Given the description of an element on the screen output the (x, y) to click on. 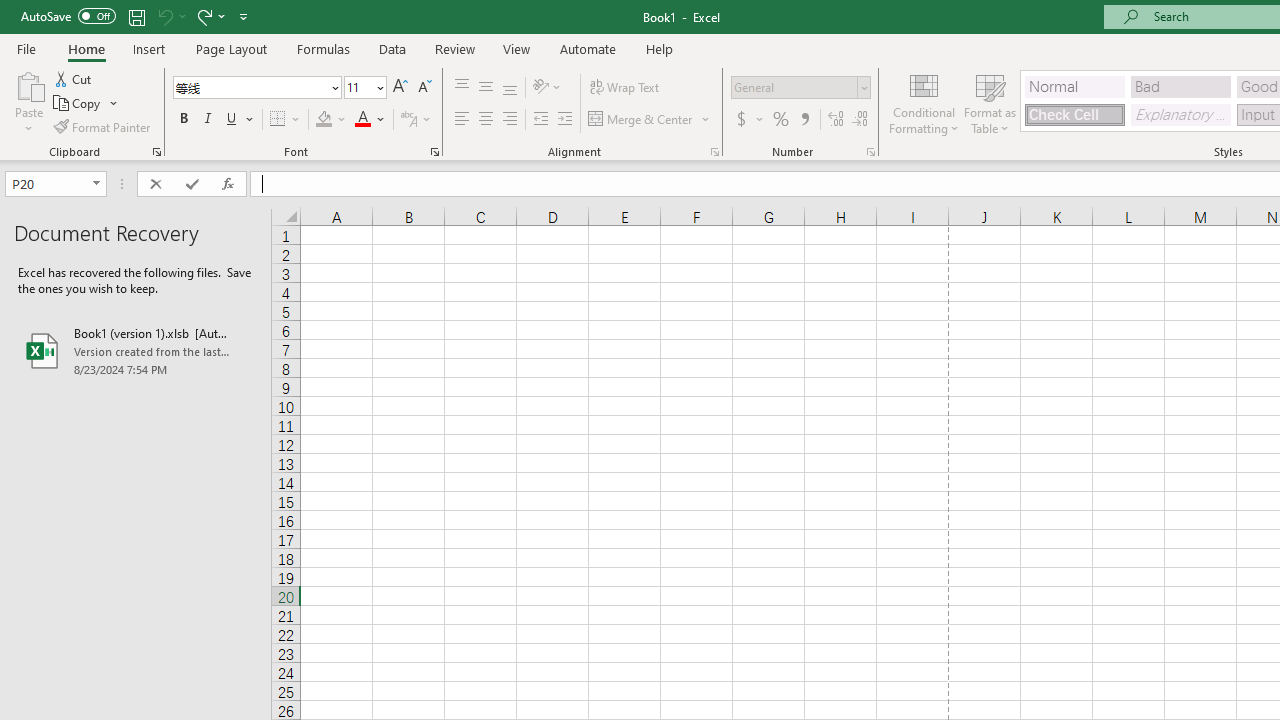
Middle Align (485, 87)
Comma Style (804, 119)
Percent Style (781, 119)
Decrease Decimal (859, 119)
Conditional Formatting (924, 102)
Fill Color (331, 119)
Bold (183, 119)
Decrease Font Size (424, 87)
Font Size (365, 87)
Format Cell Alignment (714, 151)
